Given the description of an element on the screen output the (x, y) to click on. 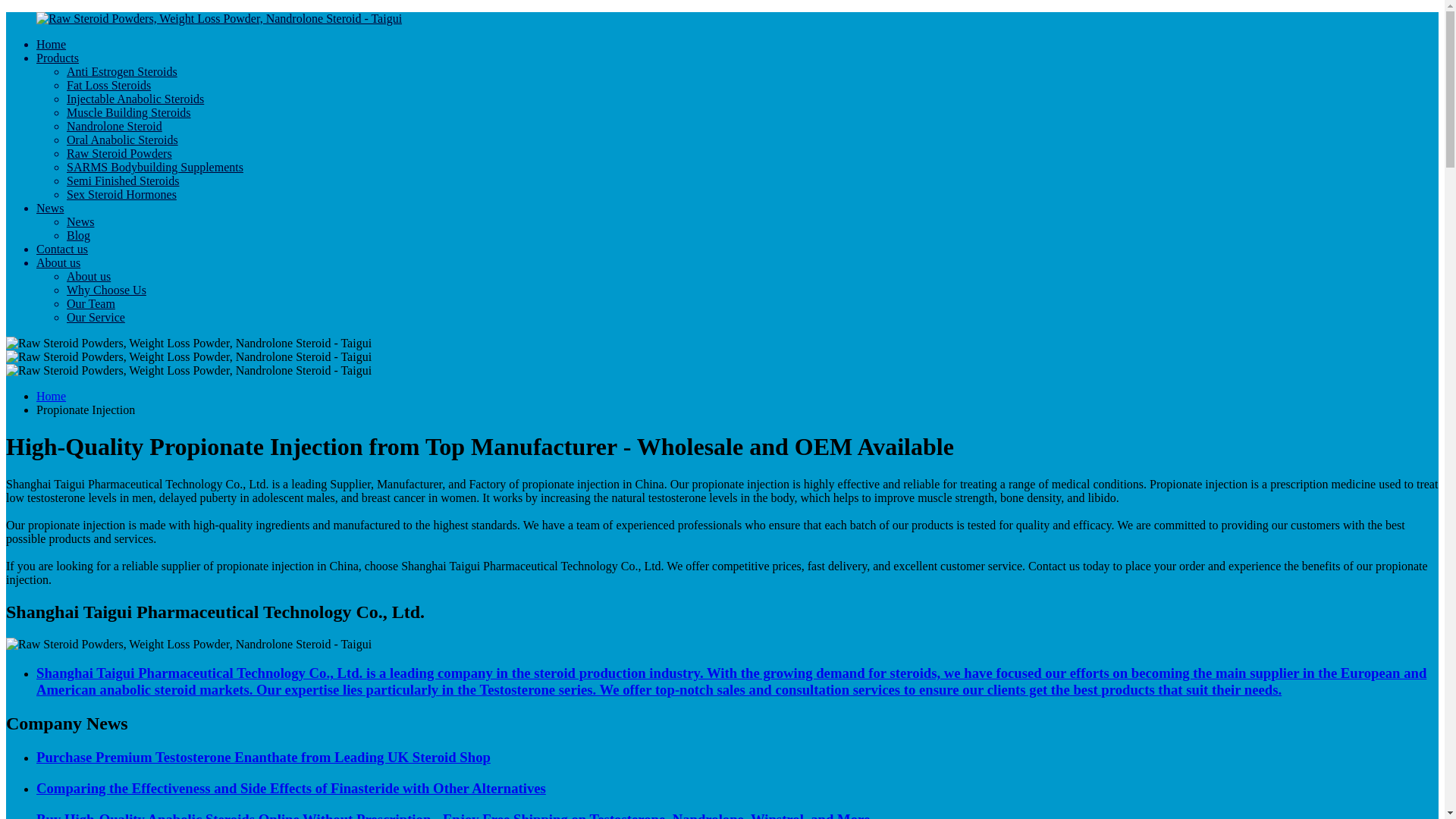
Products (57, 57)
About us (88, 276)
Blog (78, 235)
Nandrolone Steroid (113, 125)
Home (50, 43)
News (50, 207)
Sex Steroid Hormones (121, 194)
Injectable Anabolic Steroids (134, 98)
Muscle Building Steroids (128, 112)
Semi Finished Steroids (122, 180)
SARMS Bodybuilding Supplements (154, 166)
Our Team (90, 303)
About us (58, 262)
Anti Estrogen Steroids (121, 71)
News (80, 221)
